Given the description of an element on the screen output the (x, y) to click on. 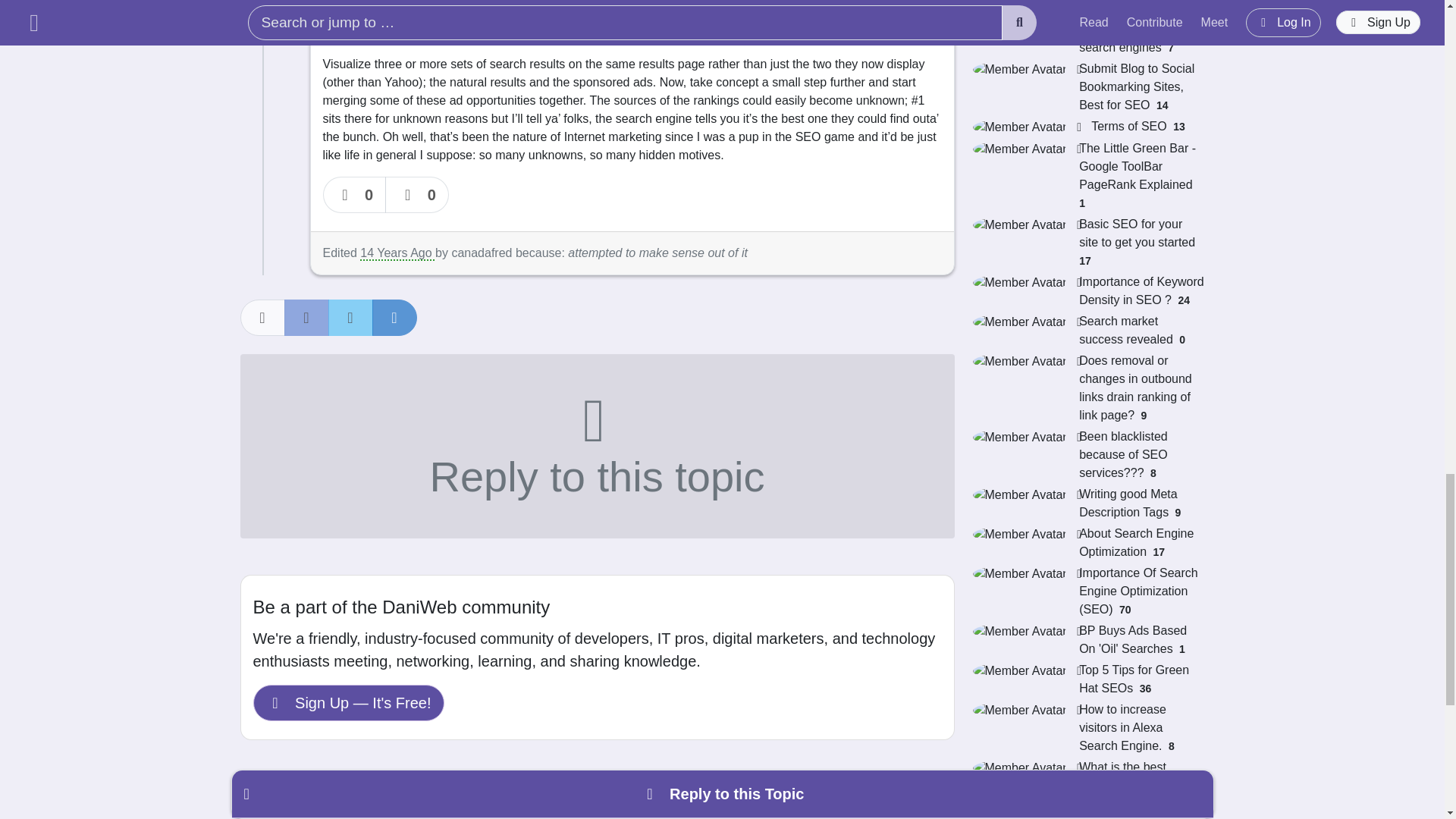
LinkedIn (393, 317)
0 (416, 194)
Reply to this topic (596, 445)
The Little Green Bar - Google ToolBar PageRank Explained 1 (1088, 175)
Twitter (349, 317)
Submit Blog to Social Bookmarking Sites, Best for SEO 14 (1088, 86)
Importance of Keyword Density in SEO ? 24 (1088, 290)
0 (355, 194)
Basic SEO for your site to get you started 17 (1088, 242)
Facebook (306, 317)
